Given the description of an element on the screen output the (x, y) to click on. 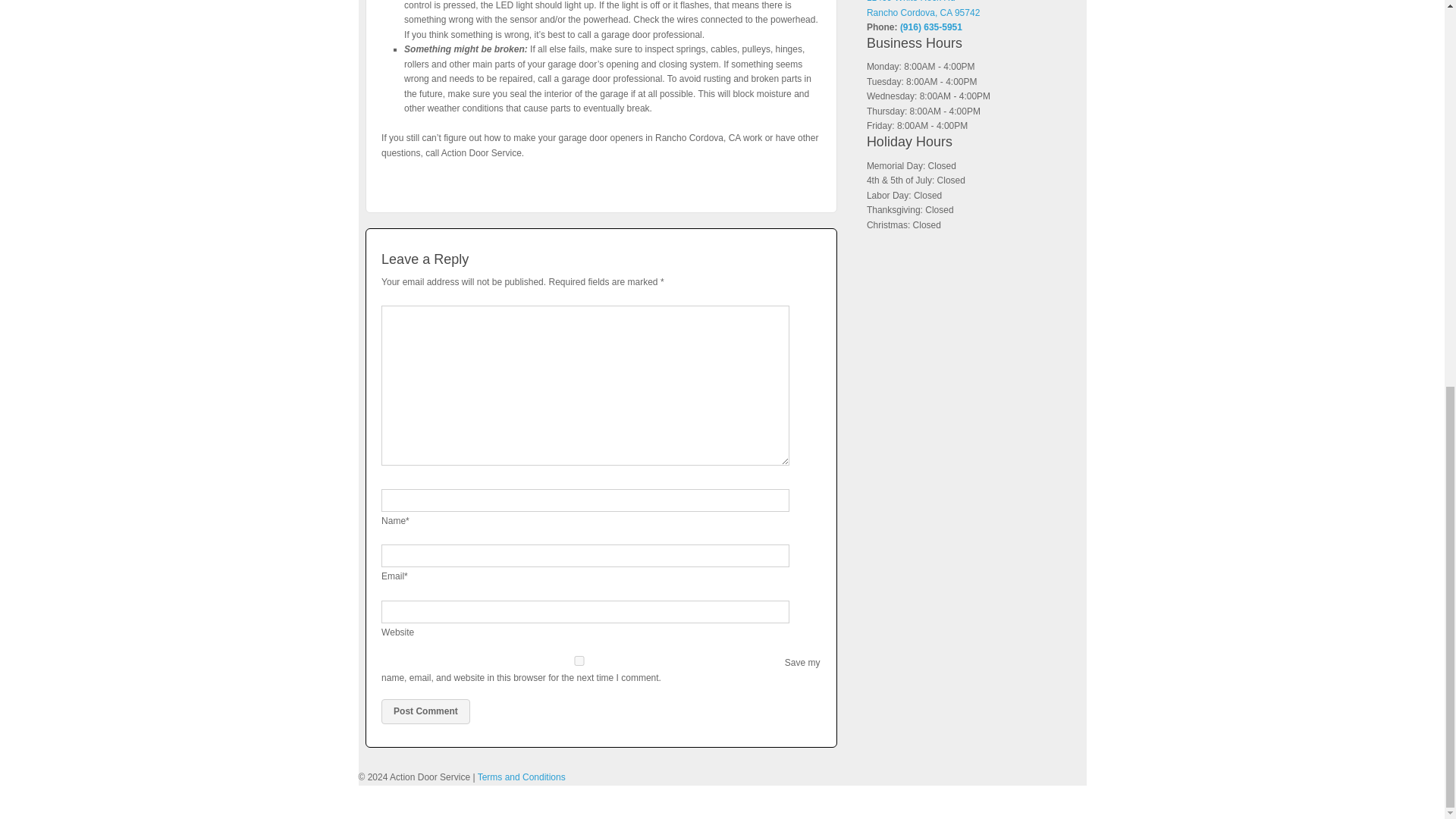
Terms and Conditions (521, 777)
yes (579, 660)
Post Comment (425, 711)
Post Comment (425, 711)
Pin It on Pinterest (397, 181)
